Given the description of an element on the screen output the (x, y) to click on. 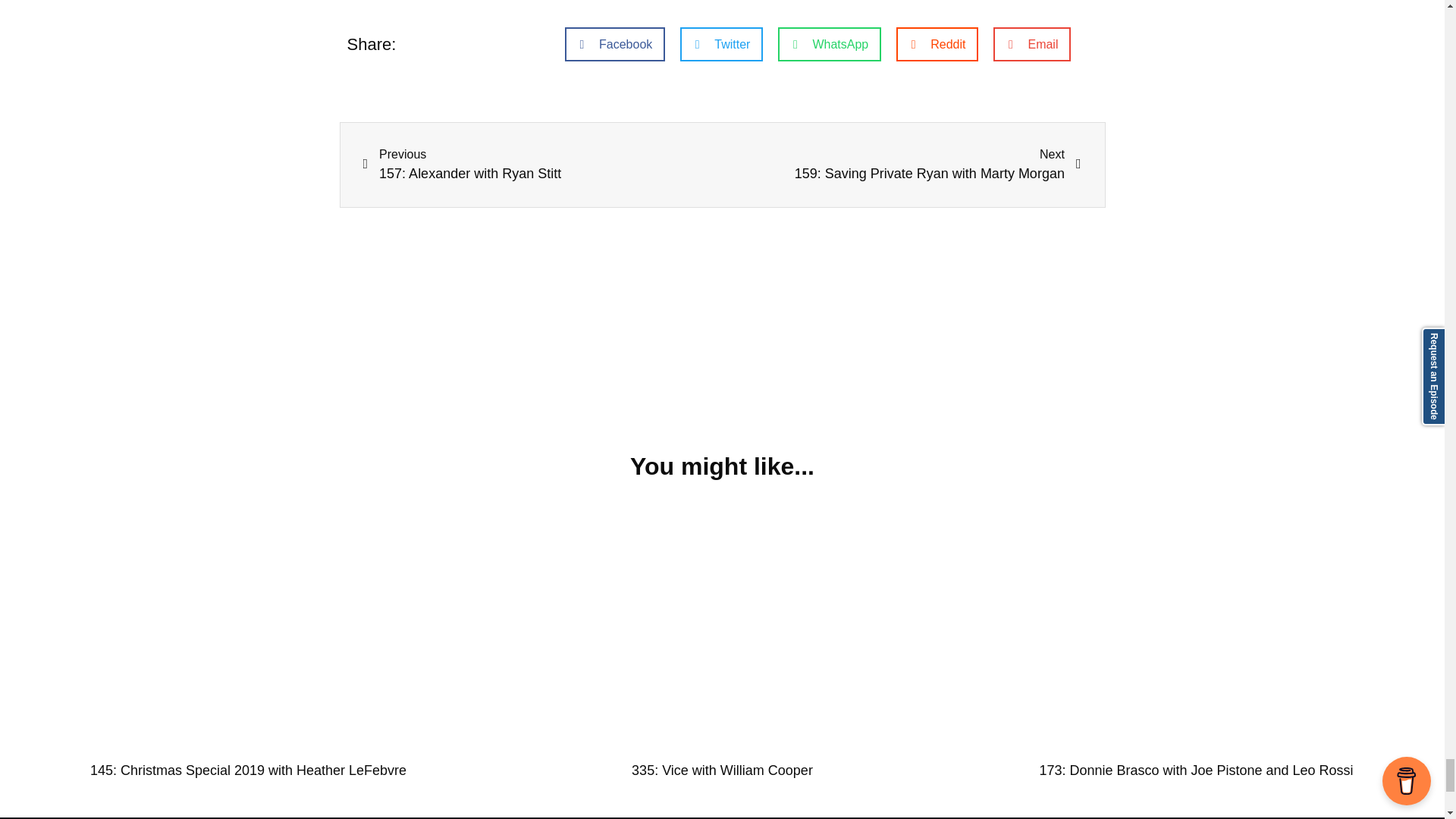
335: Vice with William Cooper (721, 770)
145: Christmas Special 2019 with Heather LeFebvre (901, 164)
173: Donnie Brasco with Joe Pistone and Leo Rossi (248, 770)
